Given the description of an element on the screen output the (x, y) to click on. 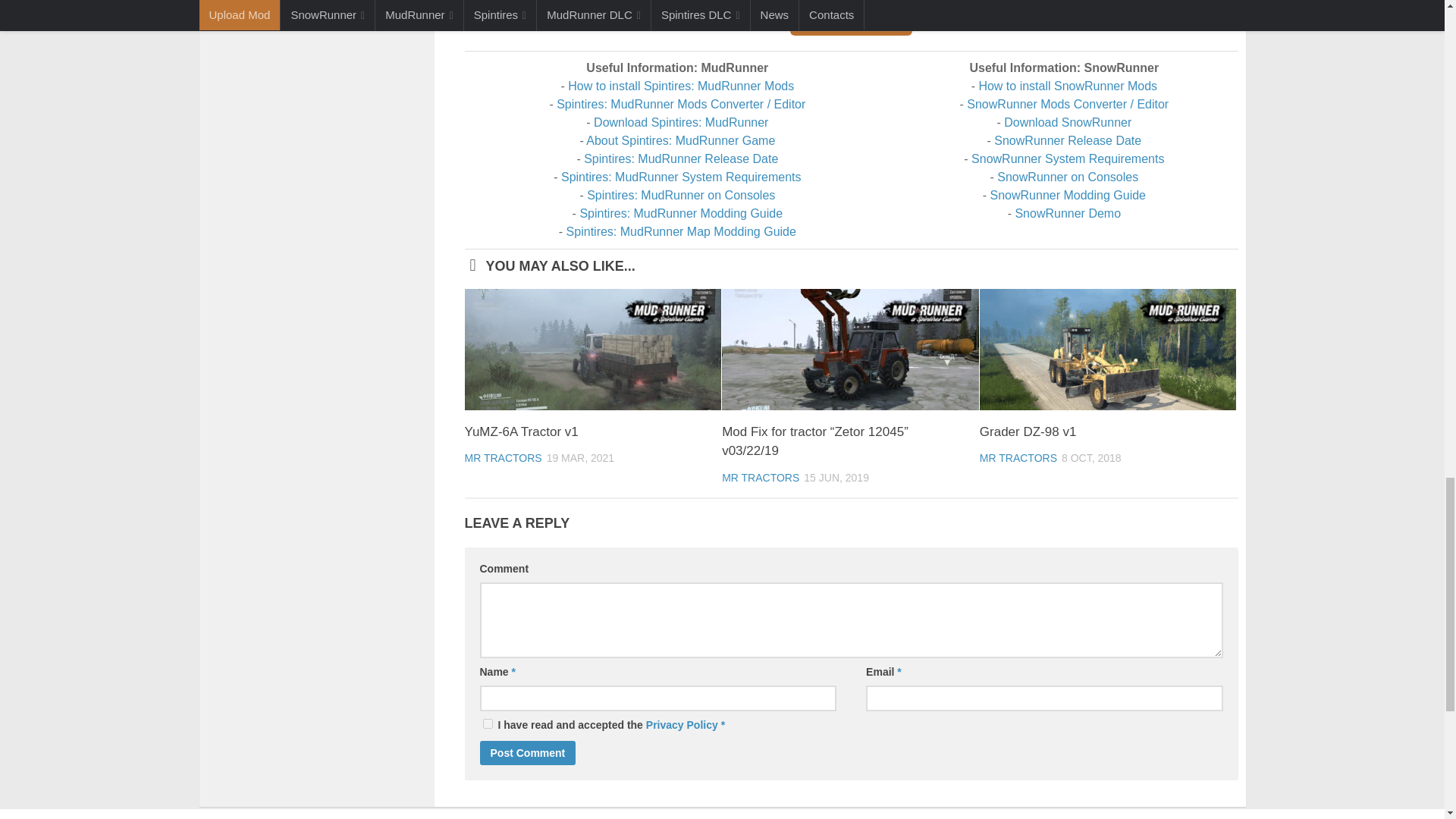
YuMZ-6A Tractor v1 (592, 349)
Grader DZ-98 v1 (1028, 431)
YuMZ-6A Tractor v1 (521, 431)
Post Comment (527, 752)
policy-key (486, 723)
Grader DZ-98 v1 (1107, 349)
